Given the description of an element on the screen output the (x, y) to click on. 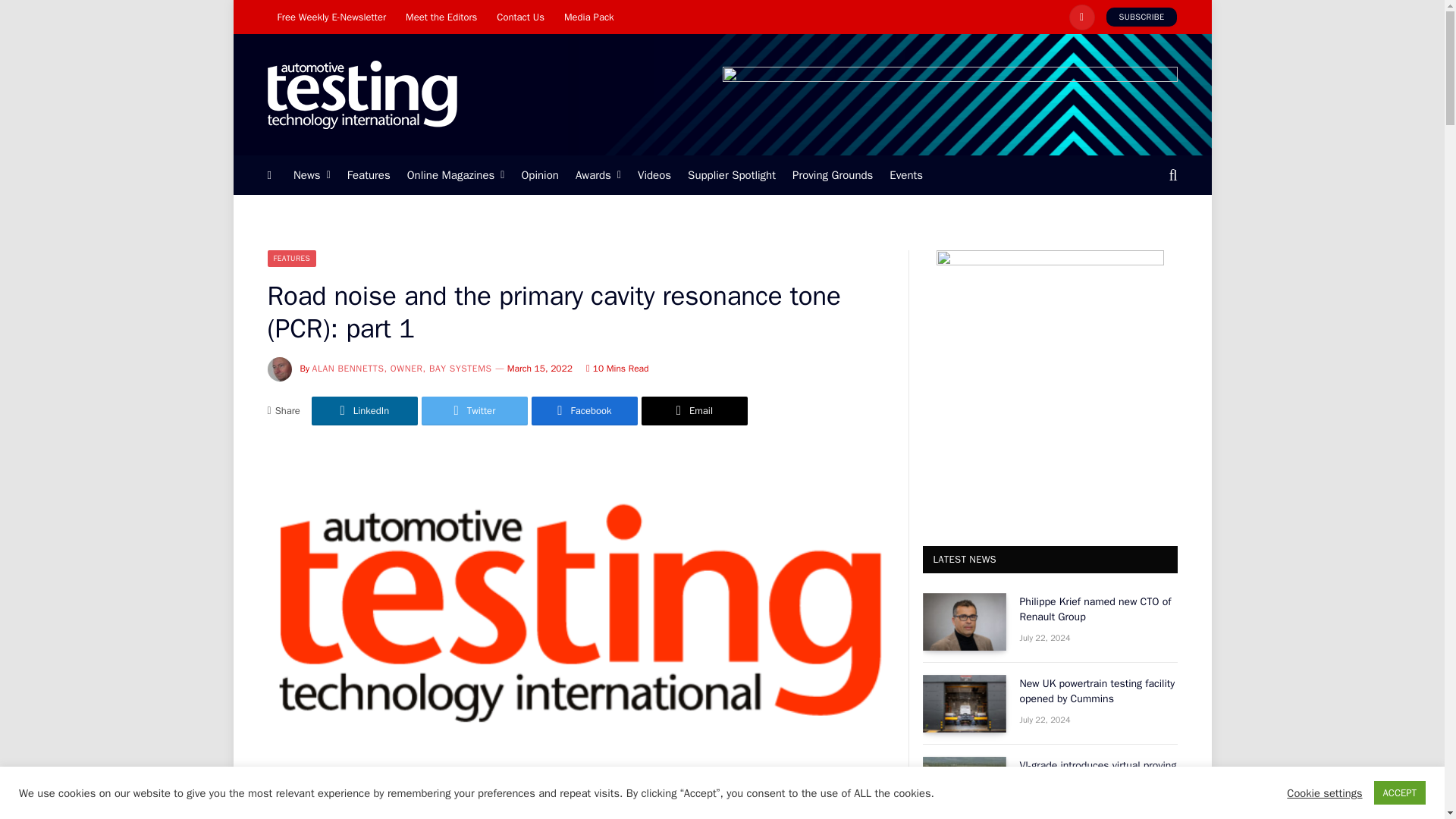
Share on Facebook (584, 410)
Share on LinkedIn (364, 410)
Automotive Testing Technology International (361, 94)
Share via Email (695, 410)
Posts by Alan Bennetts, owner, Bay Systems (402, 368)
